Given the description of an element on the screen output the (x, y) to click on. 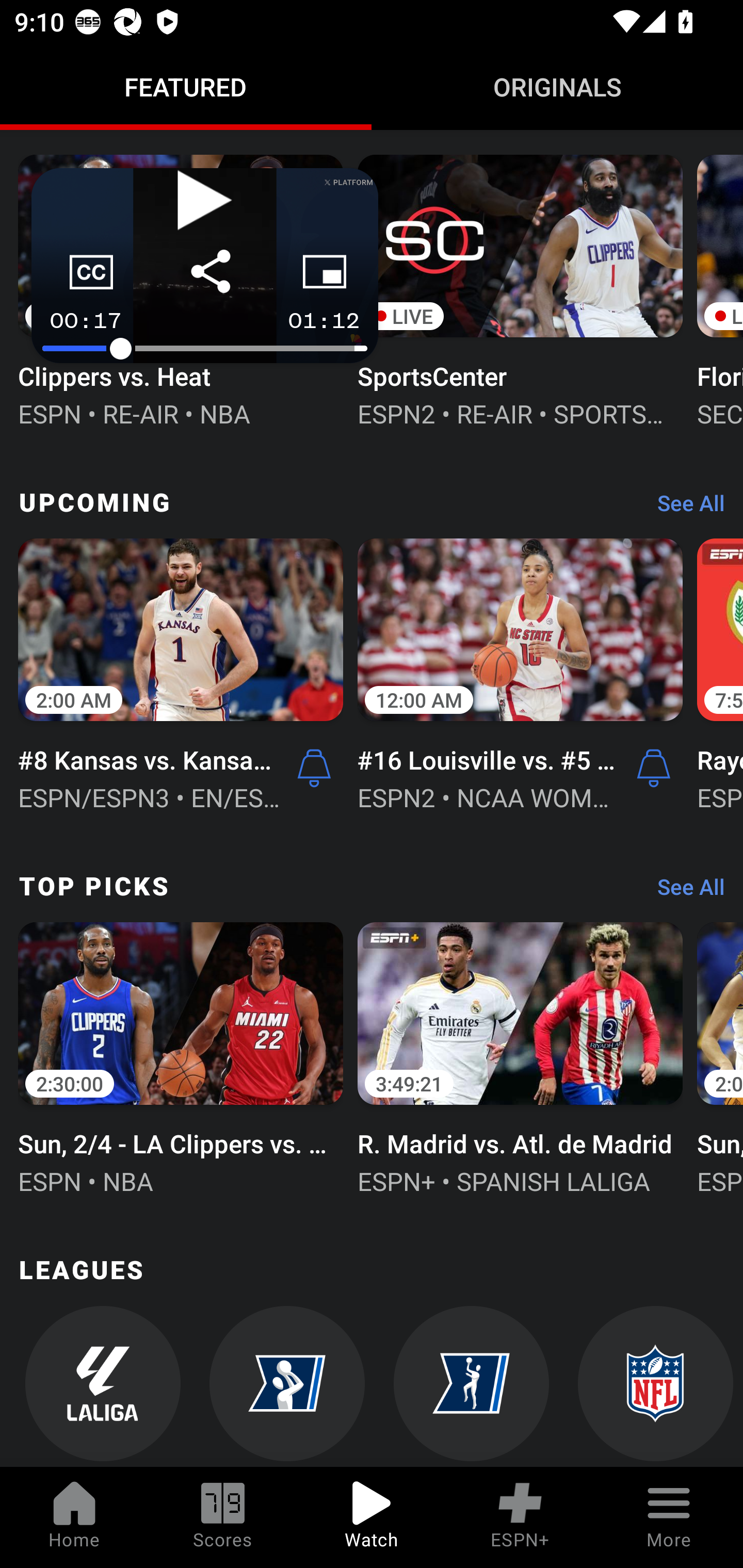
Originals ORIGINALS (557, 86)
LIVE Clippers vs. Heat ESPN • RE-AIR • NBA (180, 289)
LIVE SportsCenter ESPN2 • RE-AIR • SPORTSCENTER (519, 289)
See All (683, 507)
Alerts (314, 767)
Alerts (653, 767)
See All (683, 891)
NCAA Men's Basketball (286, 1386)
NCAA Women's Basketball (471, 1386)
Home (74, 1517)
Scores (222, 1517)
ESPN+ (519, 1517)
More (668, 1517)
